Given the description of an element on the screen output the (x, y) to click on. 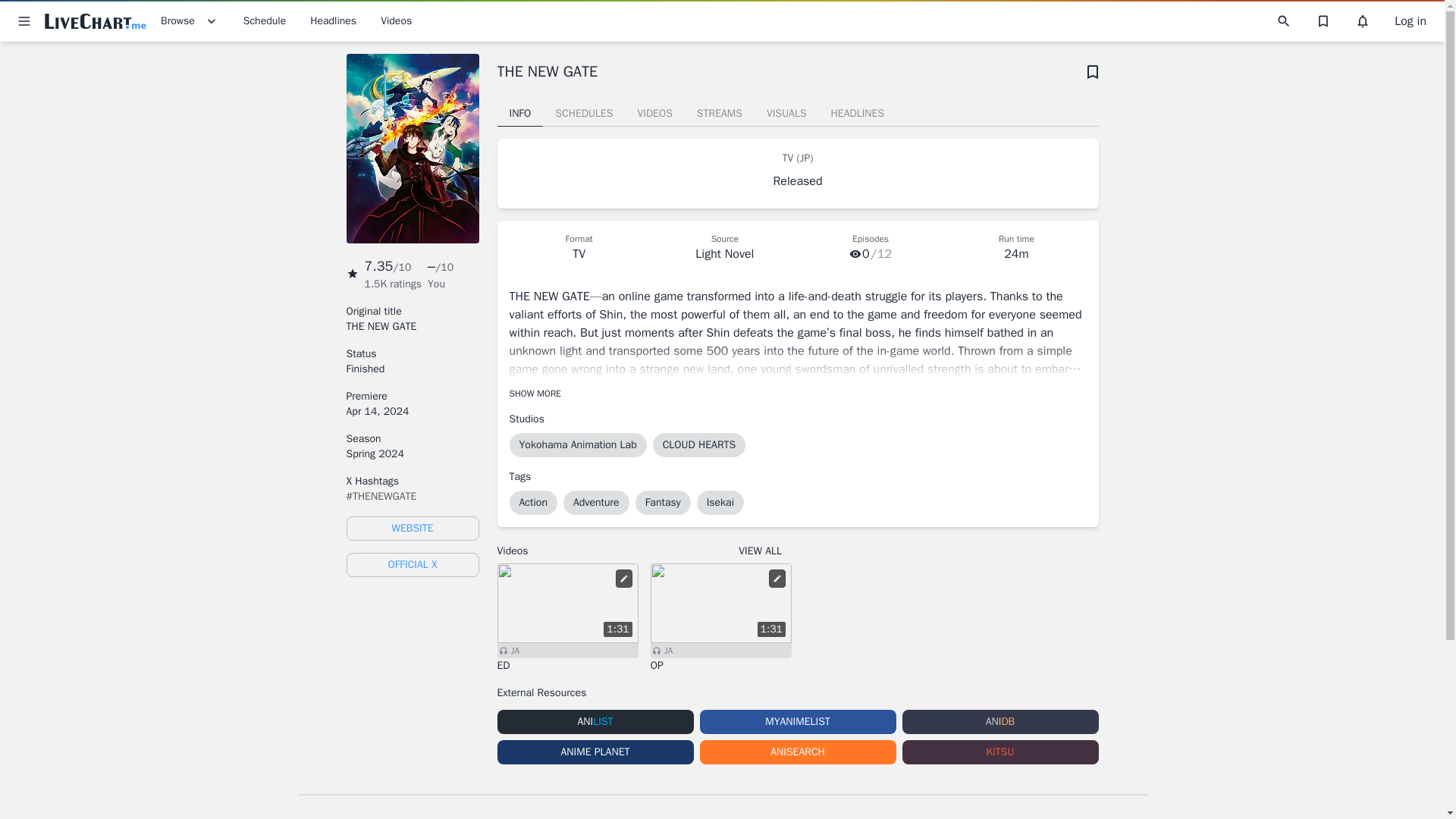
My List (1091, 72)
Suggest an Edit (623, 578)
Log in (1409, 21)
OP (721, 665)
Videos (395, 20)
My List (1322, 20)
Schedule (264, 20)
ED (568, 665)
Search (1283, 20)
Notifications (1361, 20)
